Given the description of an element on the screen output the (x, y) to click on. 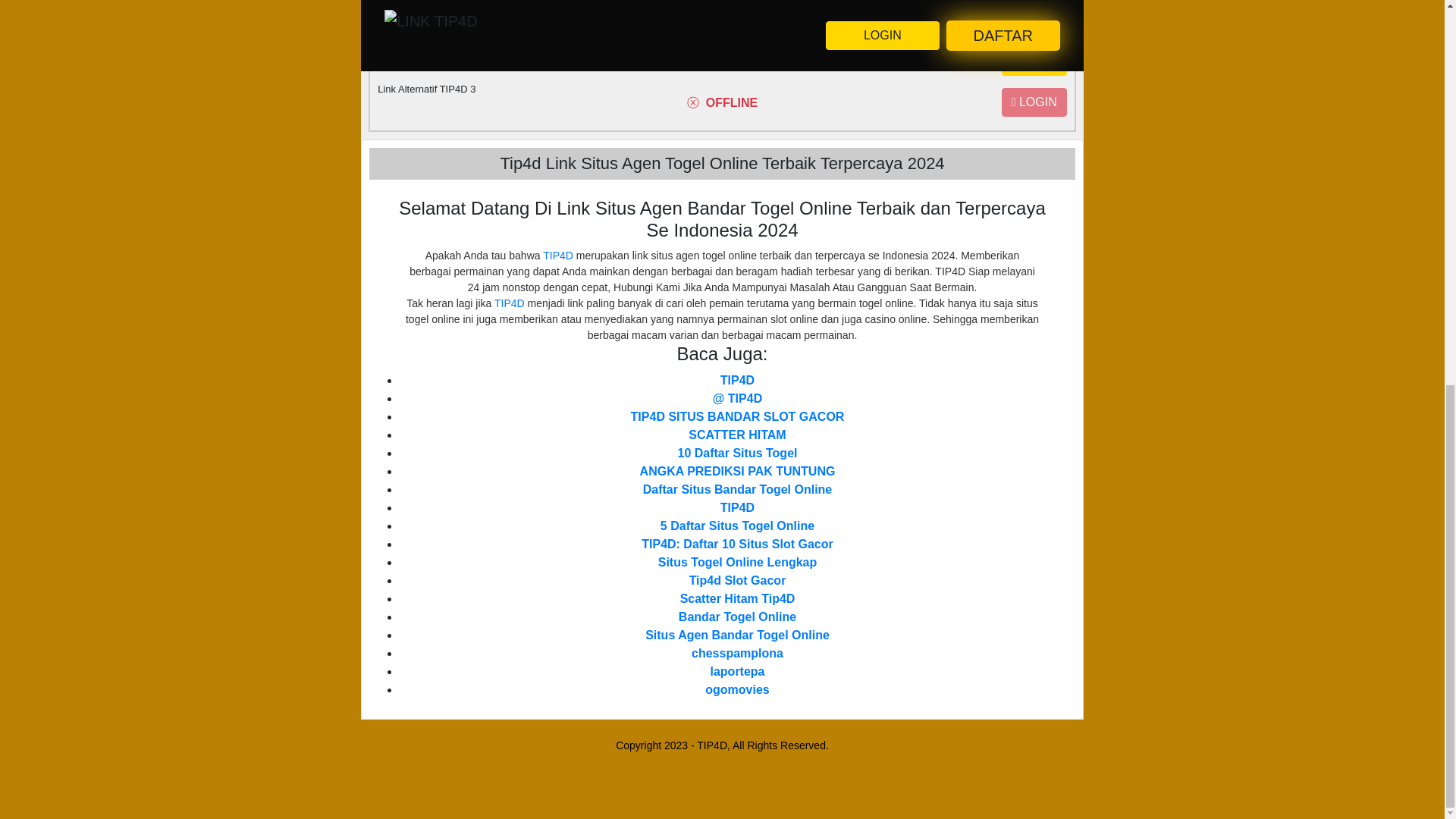
Situs Togel Online Lengkap (737, 562)
Scatter Hitam Tip4D (736, 598)
TIP4D: Daftar 10 Situs Slot Gacor (737, 543)
TIP4D (558, 255)
10 Daftar Situs Togel (737, 452)
SCATTER HITAM (737, 434)
Daftar Situs Bandar Togel Online (737, 489)
Tip4d Slot Gacor (737, 580)
 LOGIN (1034, 102)
laportepa (737, 671)
